Given the description of an element on the screen output the (x, y) to click on. 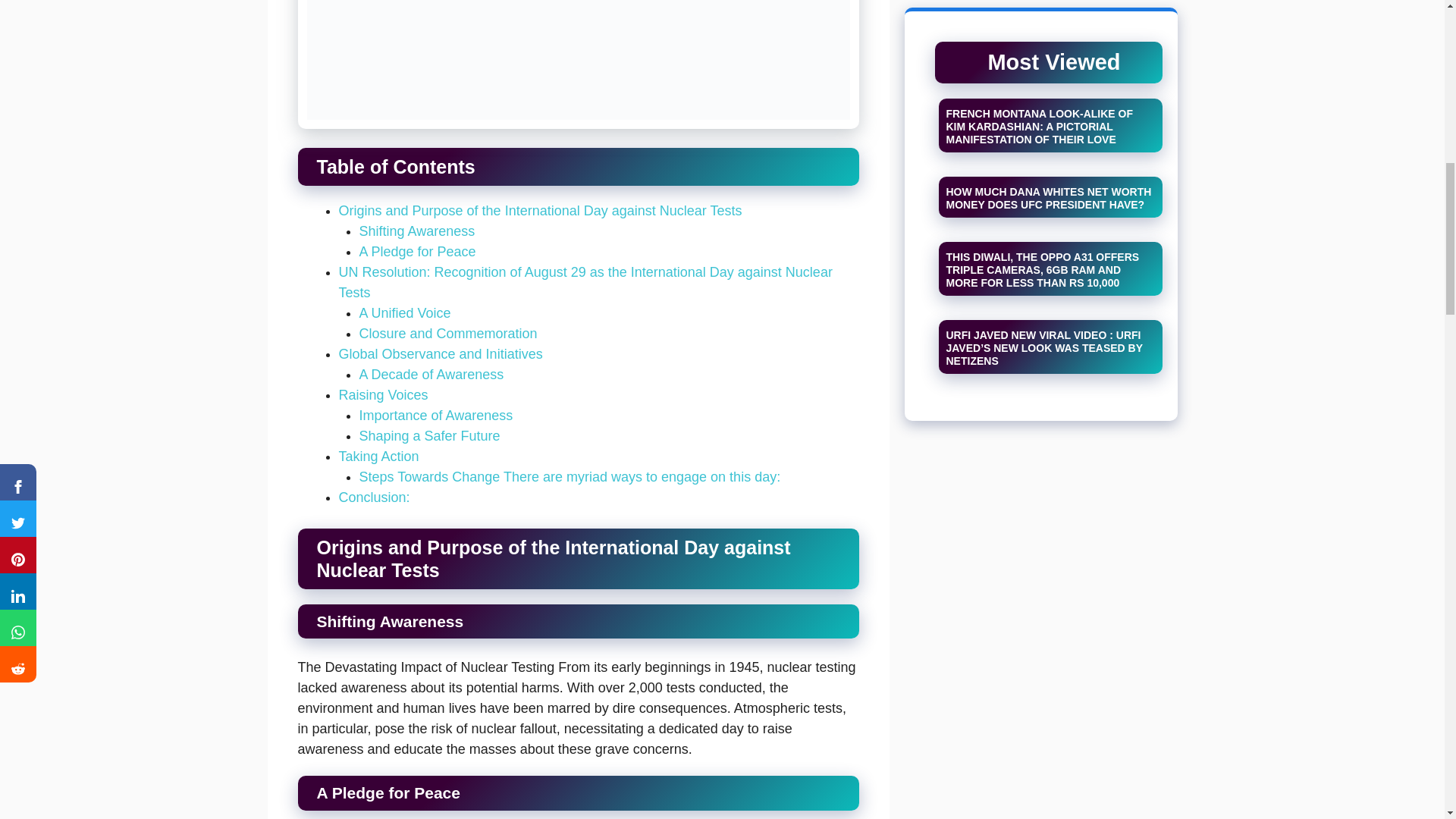
Scroll back to top (1406, 720)
Shaping a Safer Future (429, 435)
A Unified Voice (405, 313)
International Day Against Nuclear Tests (578, 63)
Closure and Commemoration (448, 333)
Taking Action (378, 456)
Importance of Awareness (436, 415)
A Decade of Awareness (431, 374)
